Given the description of an element on the screen output the (x, y) to click on. 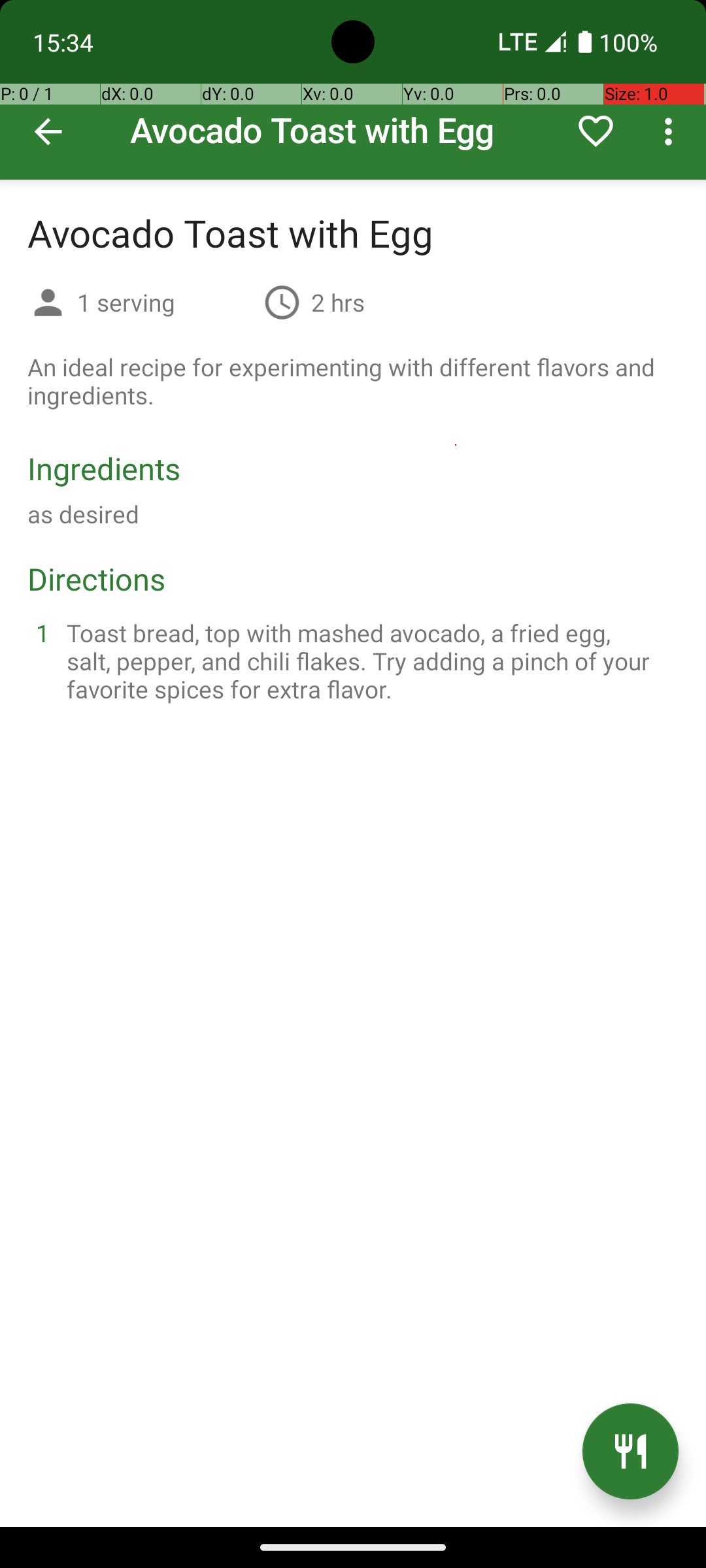
as desired Element type: android.widget.TextView (83, 513)
Toast bread, top with mashed avocado, a fried egg, salt, pepper, and chili flakes. Try adding a pinch of your favorite spices for extra flavor. Element type: android.widget.TextView (368, 660)
